Given the description of an element on the screen output the (x, y) to click on. 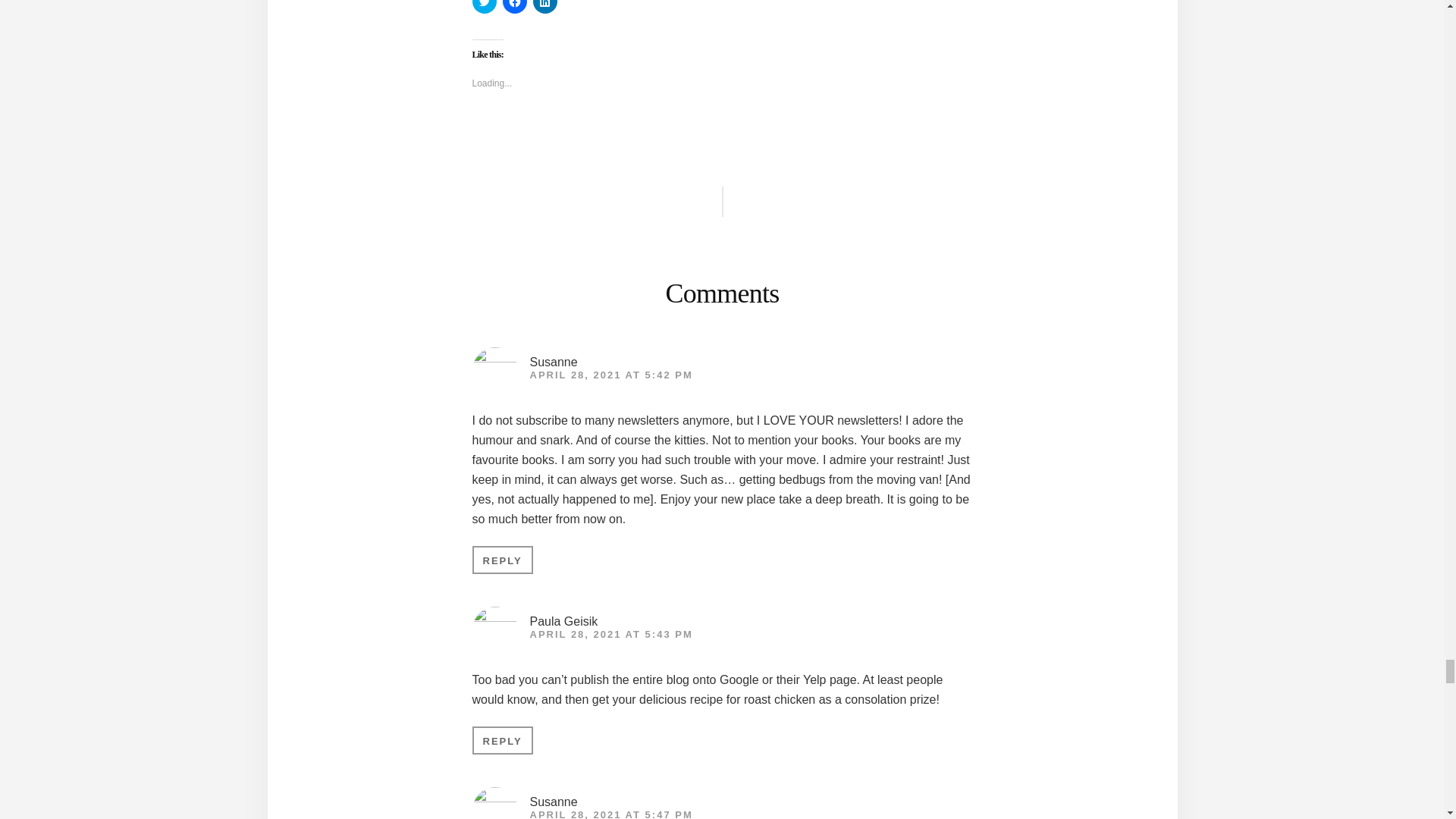
REPLY (501, 740)
Click to share on Twitter (483, 6)
APRIL 28, 2021 AT 5:43 PM (611, 633)
APRIL 28, 2021 AT 5:47 PM (611, 814)
Click to share on LinkedIn (544, 6)
APRIL 28, 2021 AT 5:42 PM (611, 374)
Click to share on Facebook (513, 6)
REPLY (501, 560)
